Given the description of an element on the screen output the (x, y) to click on. 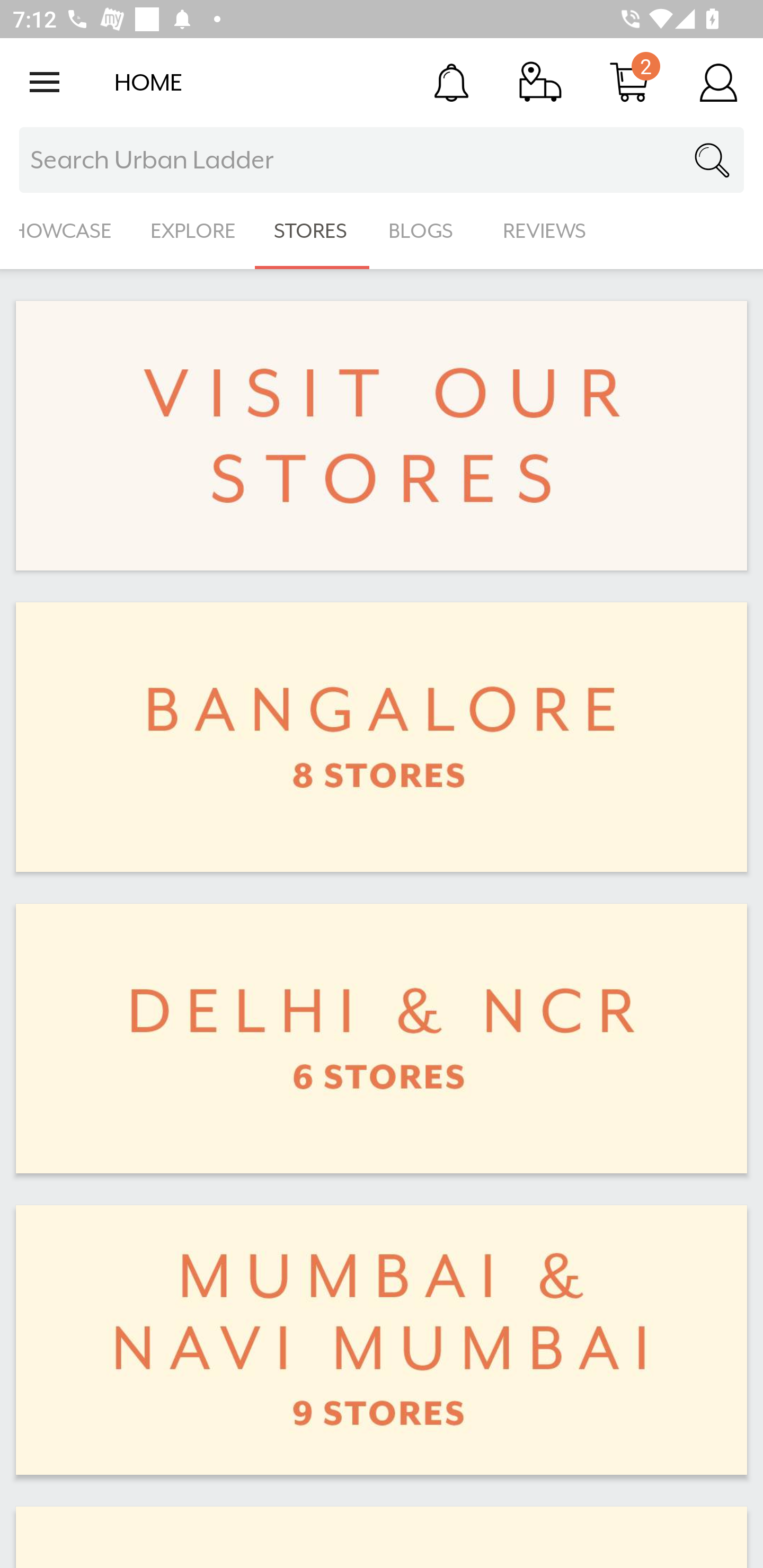
Open navigation drawer (44, 82)
Notification (450, 81)
Track Order (540, 81)
Cart (629, 81)
Account Details (718, 81)
Search Urban Ladder  (381, 159)
SHOWCASE (65, 230)
EXPLORE (192, 230)
STORES (311, 230)
BLOGS (426, 230)
REVIEWS (544, 230)
